Given the description of an element on the screen output the (x, y) to click on. 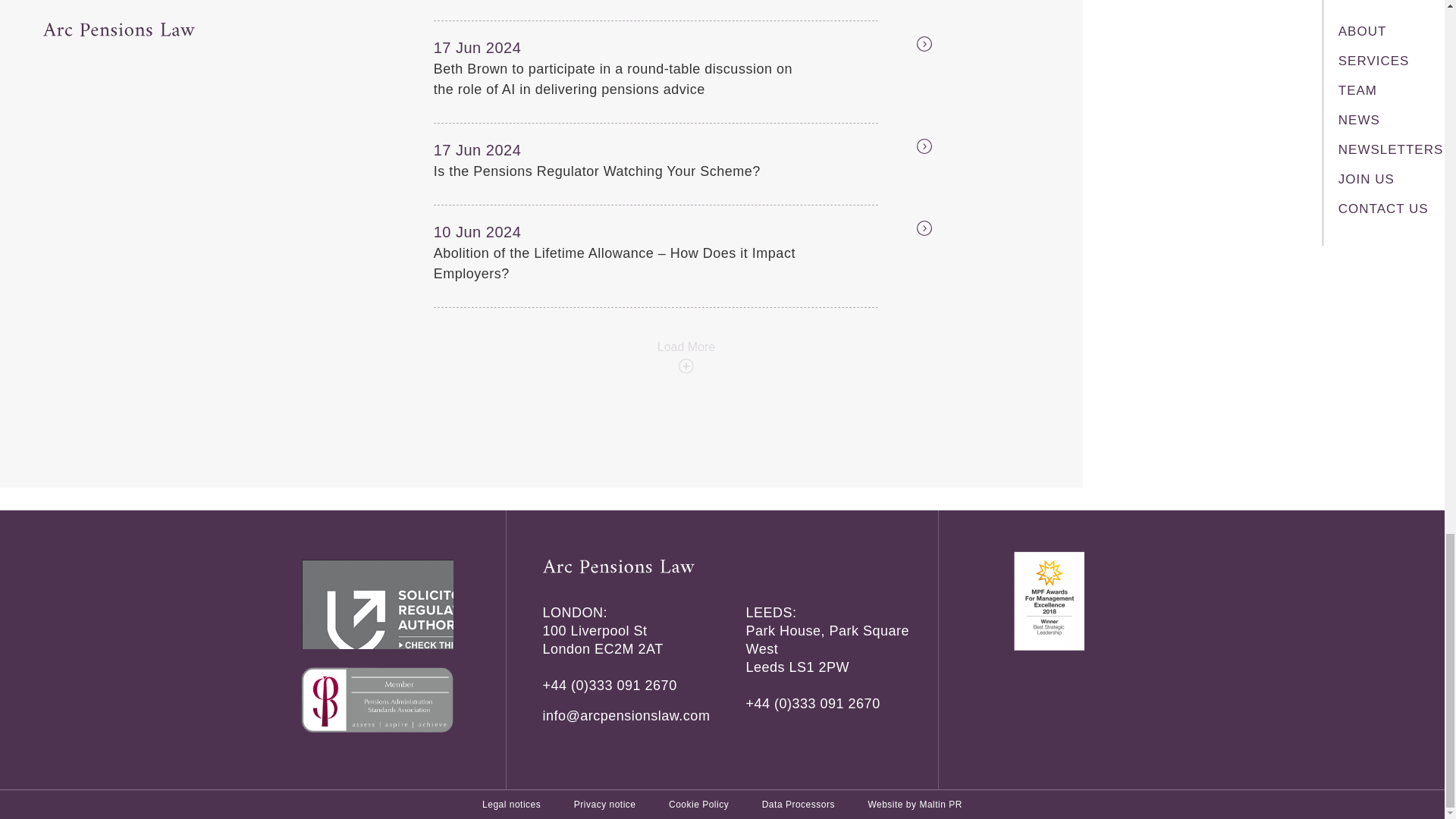
Is the Pensions Regulator Watching Your Scheme? (622, 171)
Go (907, 46)
17 Jun 2024 (506, 47)
17 Jun 2024 (506, 149)
